Given the description of an element on the screen output the (x, y) to click on. 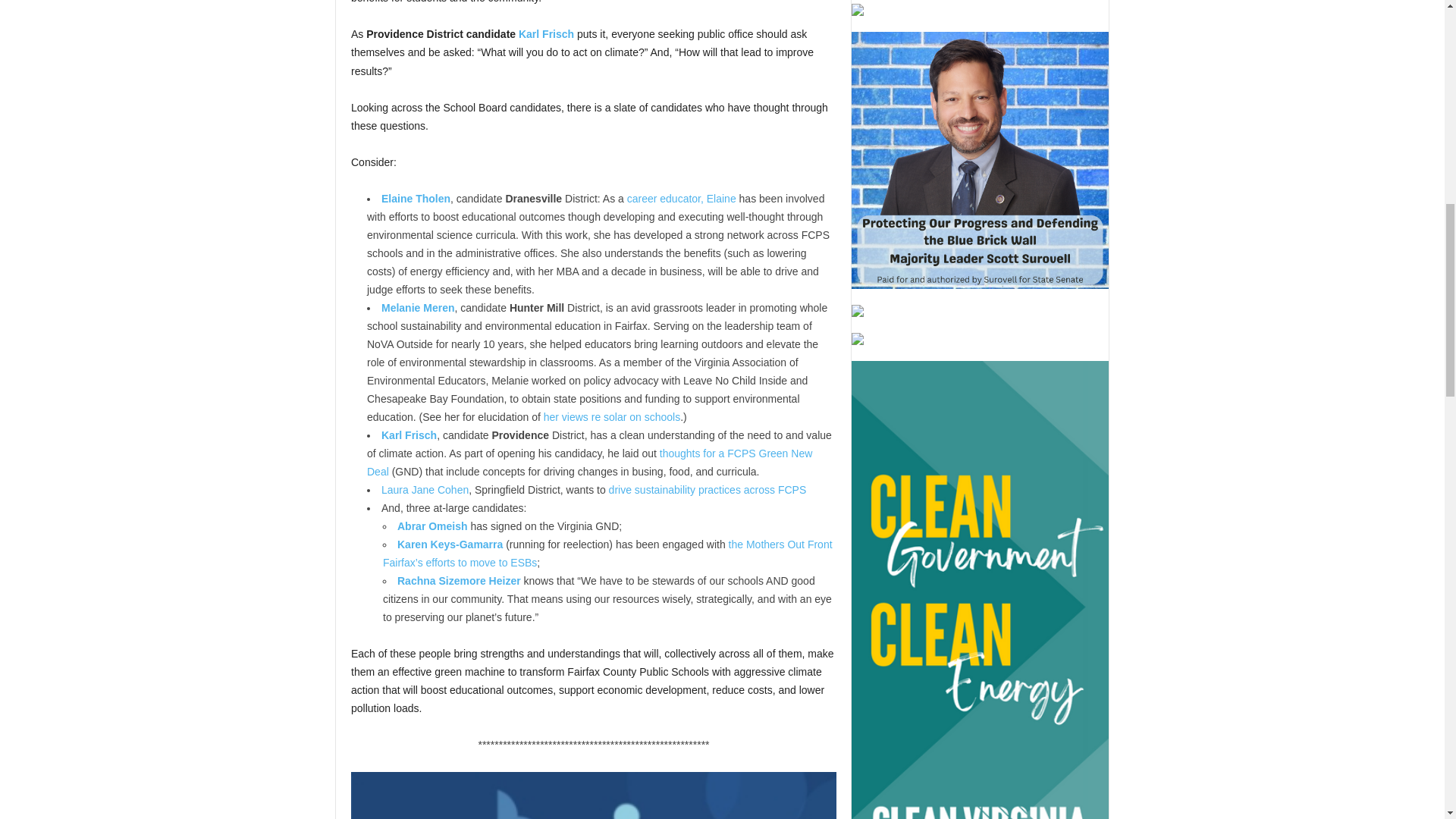
her views re solar on schools (612, 417)
Laura Jane Cohen (424, 490)
career educator, Elaine (681, 198)
Karl Frisch (545, 33)
Melanie Meren (417, 307)
Karl Frisch (408, 435)
Elaine Tholen (415, 198)
thoughts for a FCPS Green New Deal (589, 462)
drive sustainability practices across FCPS (707, 490)
